Given the description of an element on the screen output the (x, y) to click on. 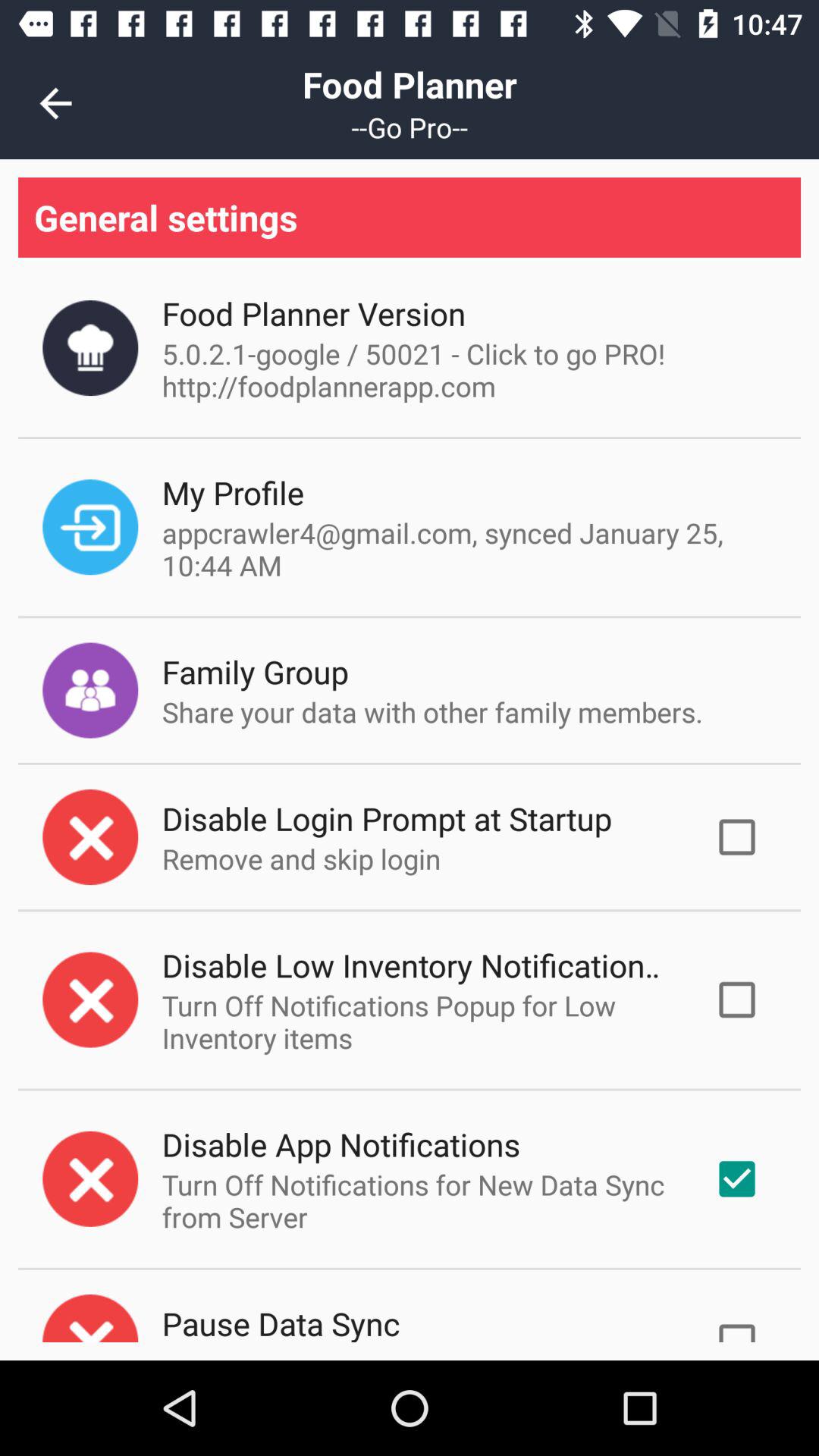
launch the icon to the left of the food planner item (55, 103)
